Given the description of an element on the screen output the (x, y) to click on. 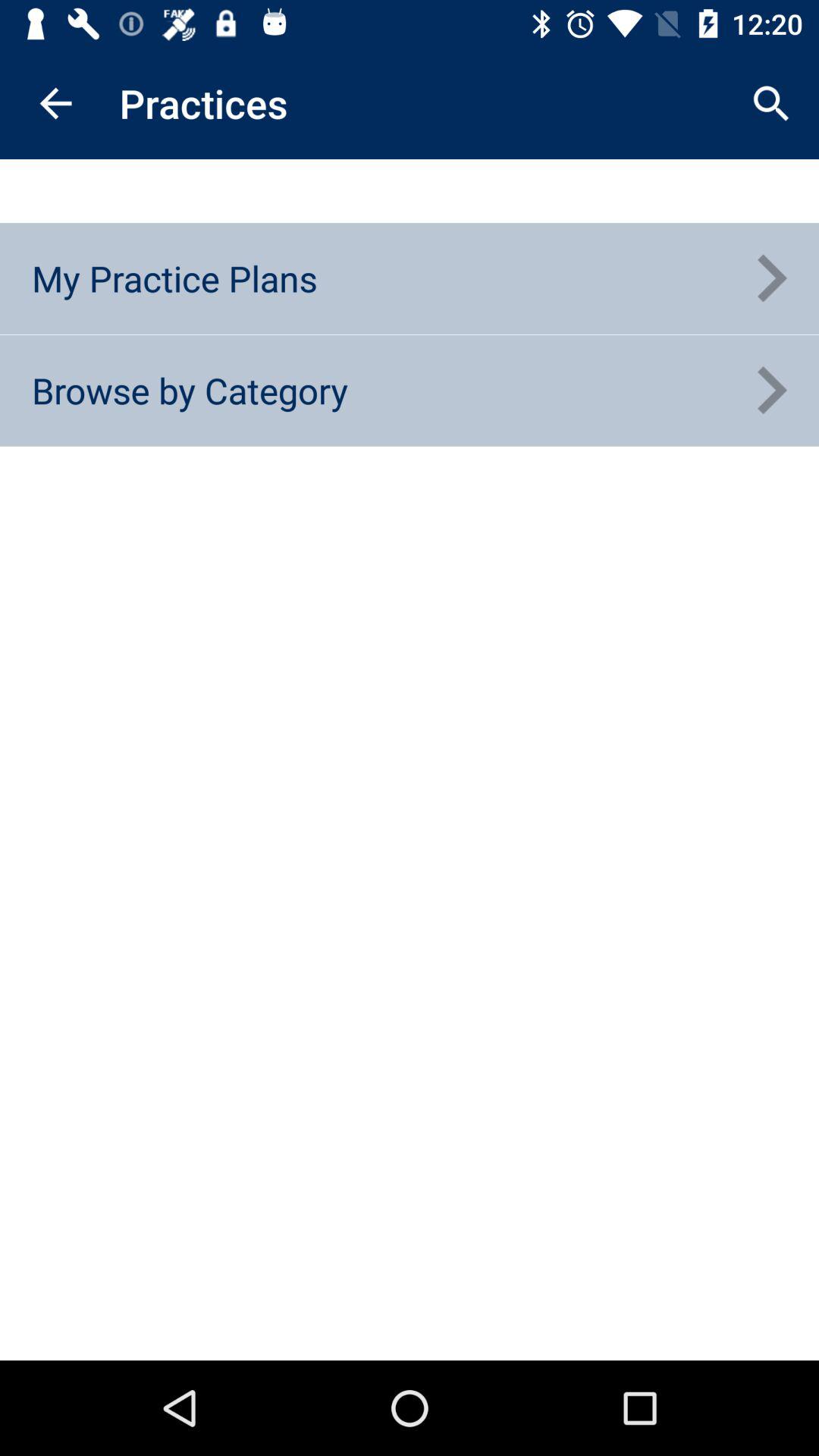
choose item below the my practice plans (189, 390)
